Given the description of an element on the screen output the (x, y) to click on. 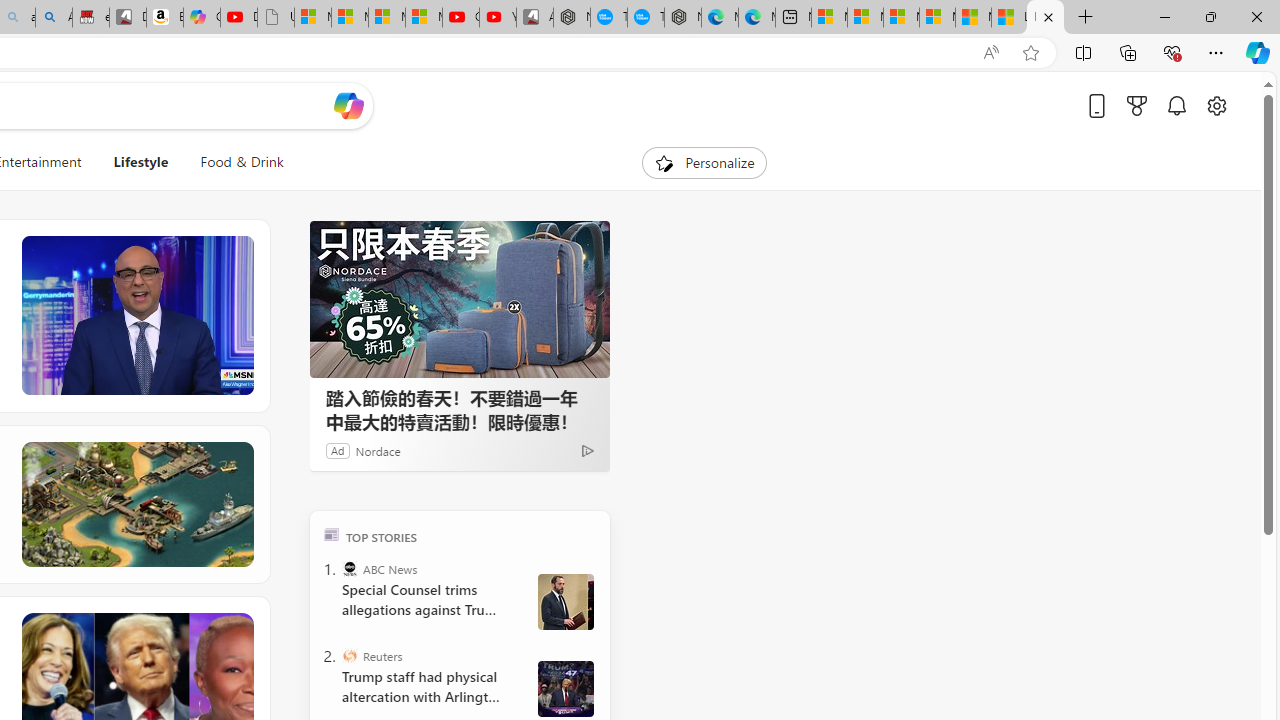
Reuters (349, 655)
Copilot (202, 17)
Nordace - My Account (572, 17)
